Given the description of an element on the screen output the (x, y) to click on. 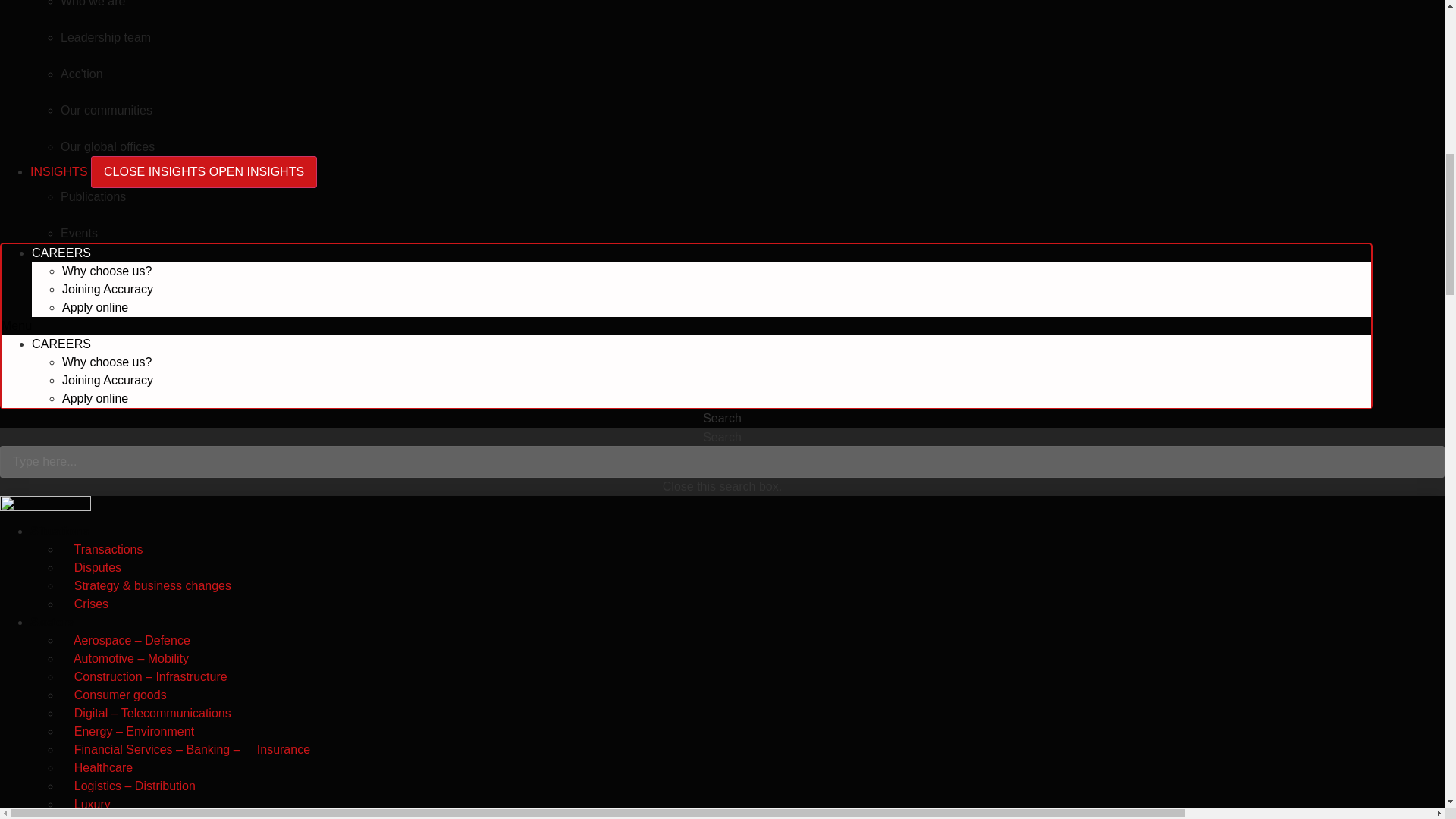
Events (79, 232)
Who we are (93, 3)
CAREERS (61, 252)
Joining Accuracy (107, 288)
Publications (93, 196)
Our global offices (107, 146)
Leadership team (106, 37)
Our communities (106, 110)
Acc'tion (82, 73)
CLOSE INSIGHTS OPEN INSIGHTS (203, 172)
INSIGHTS (60, 171)
Why choose us? (106, 270)
